Given the description of an element on the screen output the (x, y) to click on. 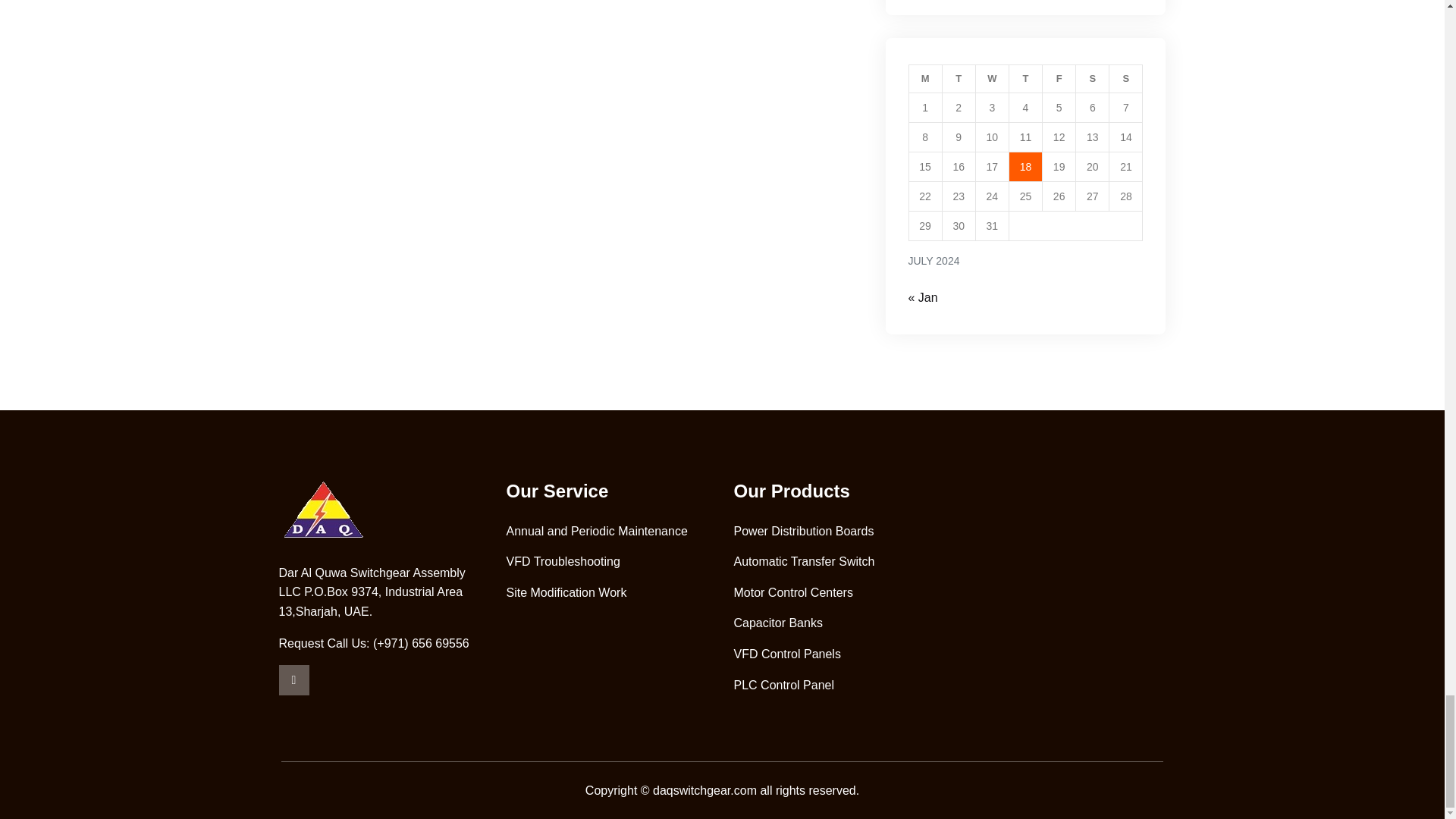
Sunday (1125, 79)
Friday (1058, 79)
Thursday (1025, 79)
Monday (925, 79)
Wednesday (992, 79)
Tuesday (958, 79)
Saturday (1092, 79)
Facebook (293, 680)
